Given the description of an element on the screen output the (x, y) to click on. 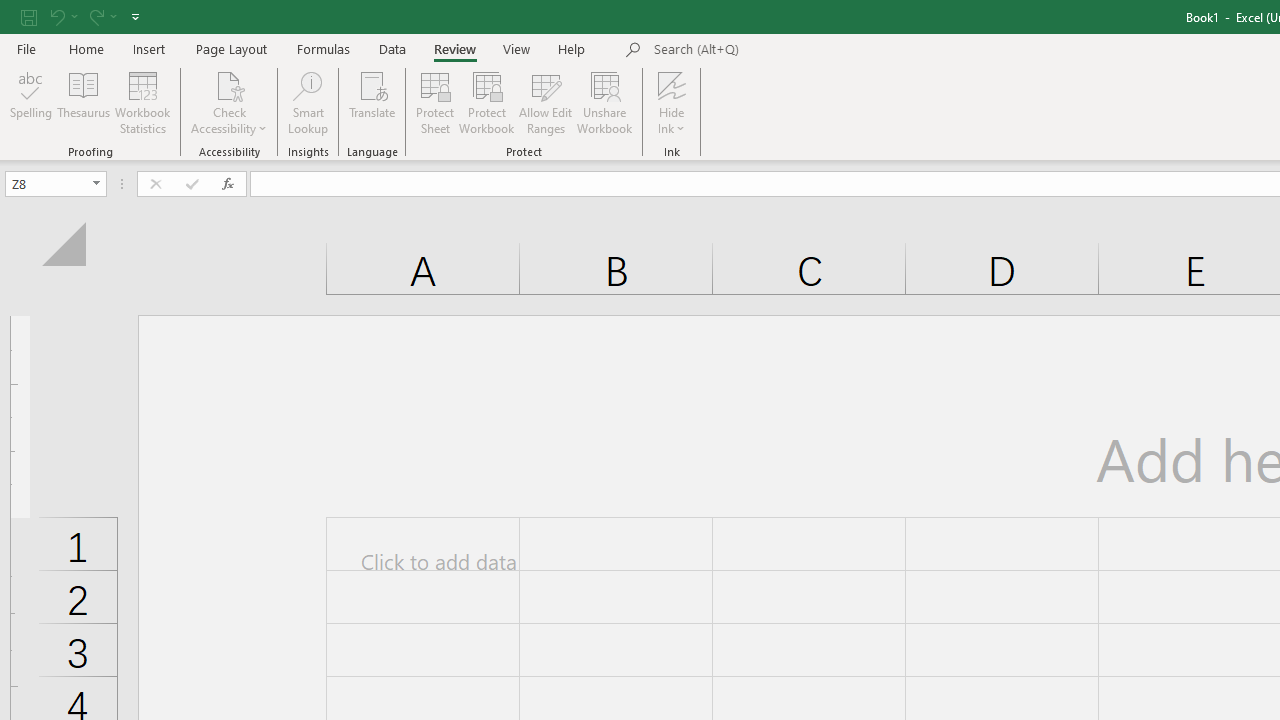
Save (29, 15)
Microsoft search (792, 49)
Thesaurus... (83, 102)
Protect Sheet... (434, 102)
Check Accessibility (229, 84)
Redo (102, 15)
